Given the description of an element on the screen output the (x, y) to click on. 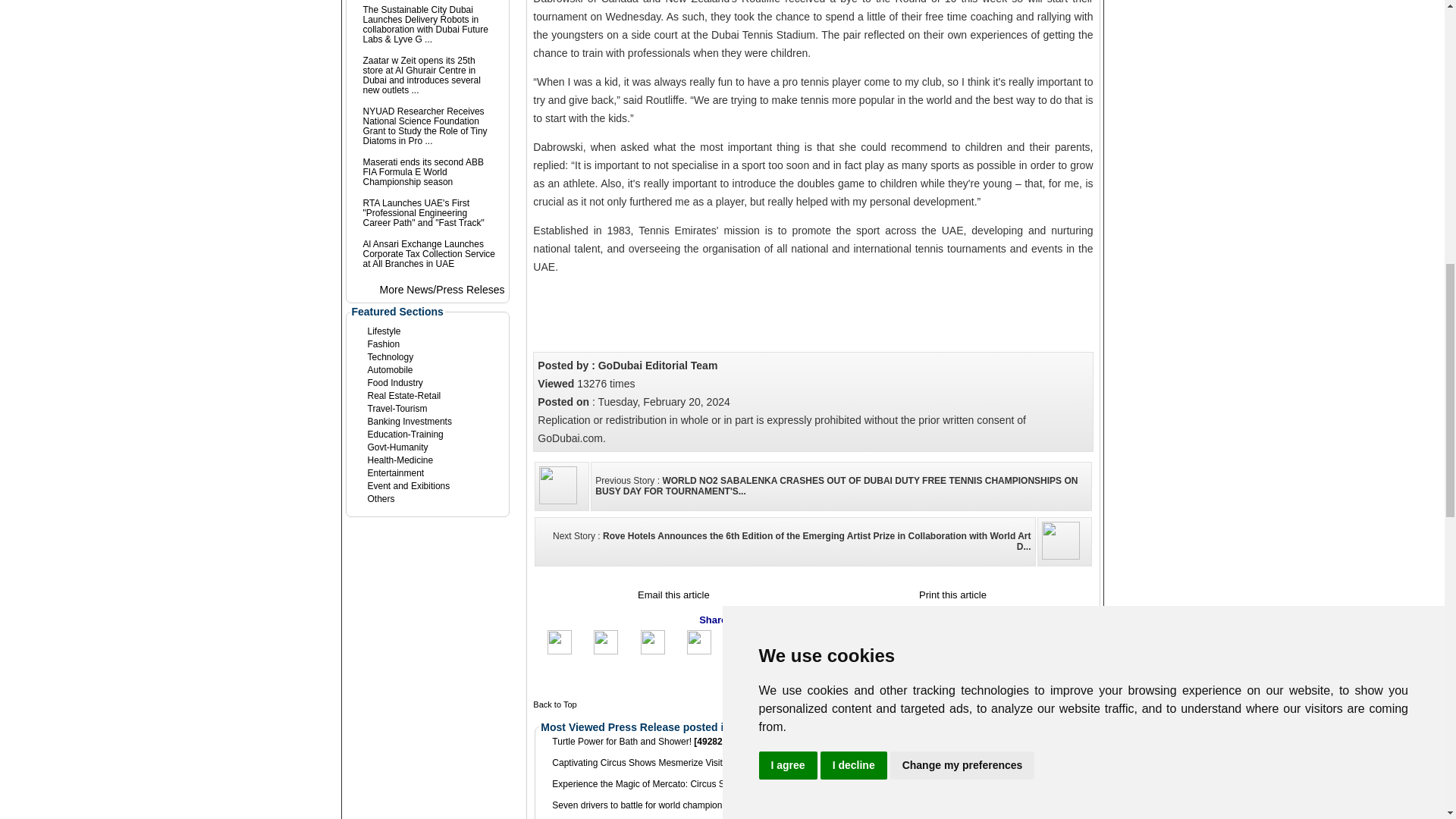
Twitter (605, 651)
MySpace (699, 651)
Stumbleupon (745, 651)
Reddit (927, 651)
Linkedin (652, 651)
NewsVine (859, 643)
Facebook (559, 651)
Delicious (1020, 651)
Folkd (972, 651)
NewsVine (859, 642)
Digg (790, 651)
